Given the description of an element on the screen output the (x, y) to click on. 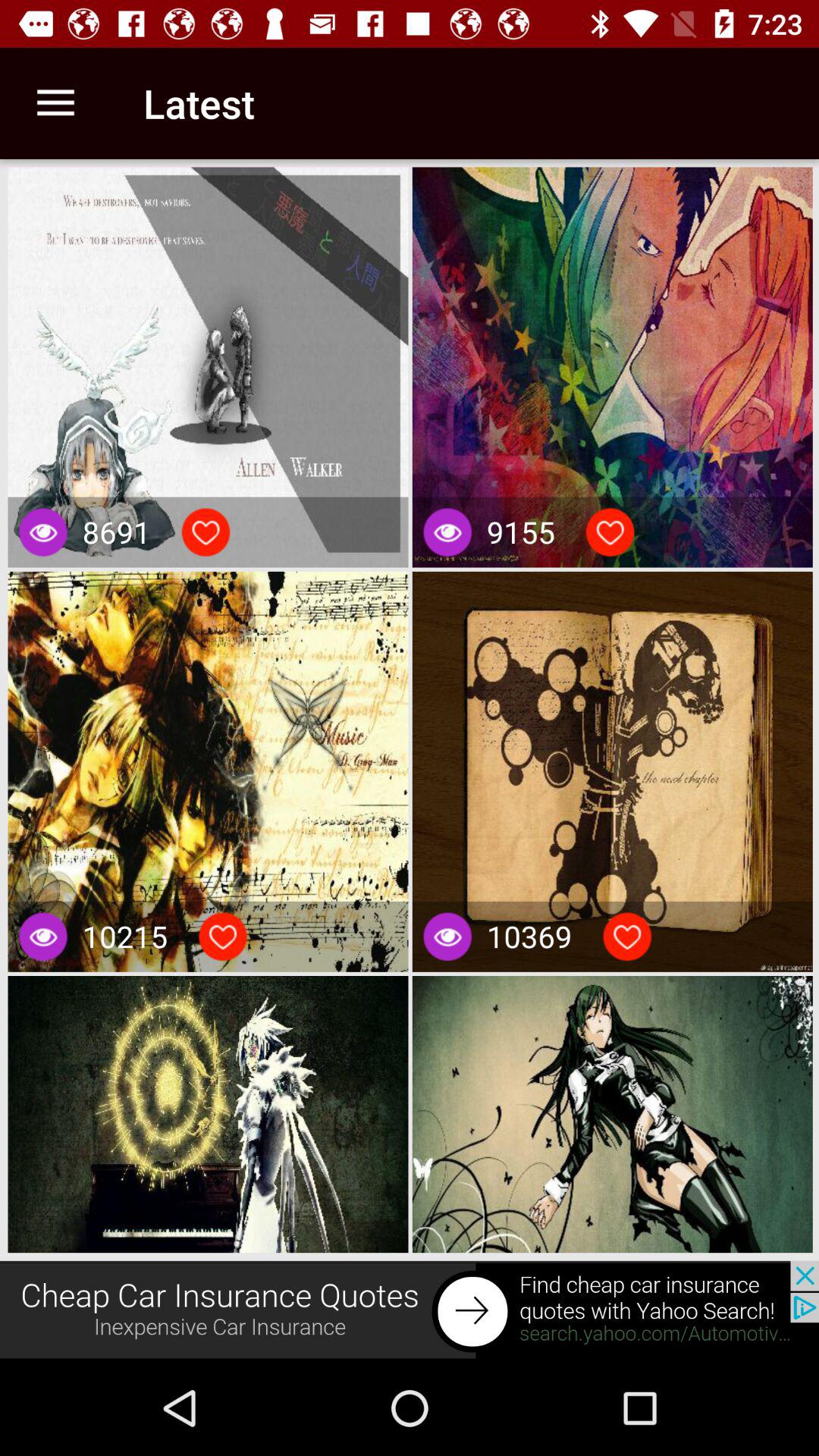
favorite this video (205, 532)
